Given the description of an element on the screen output the (x, y) to click on. 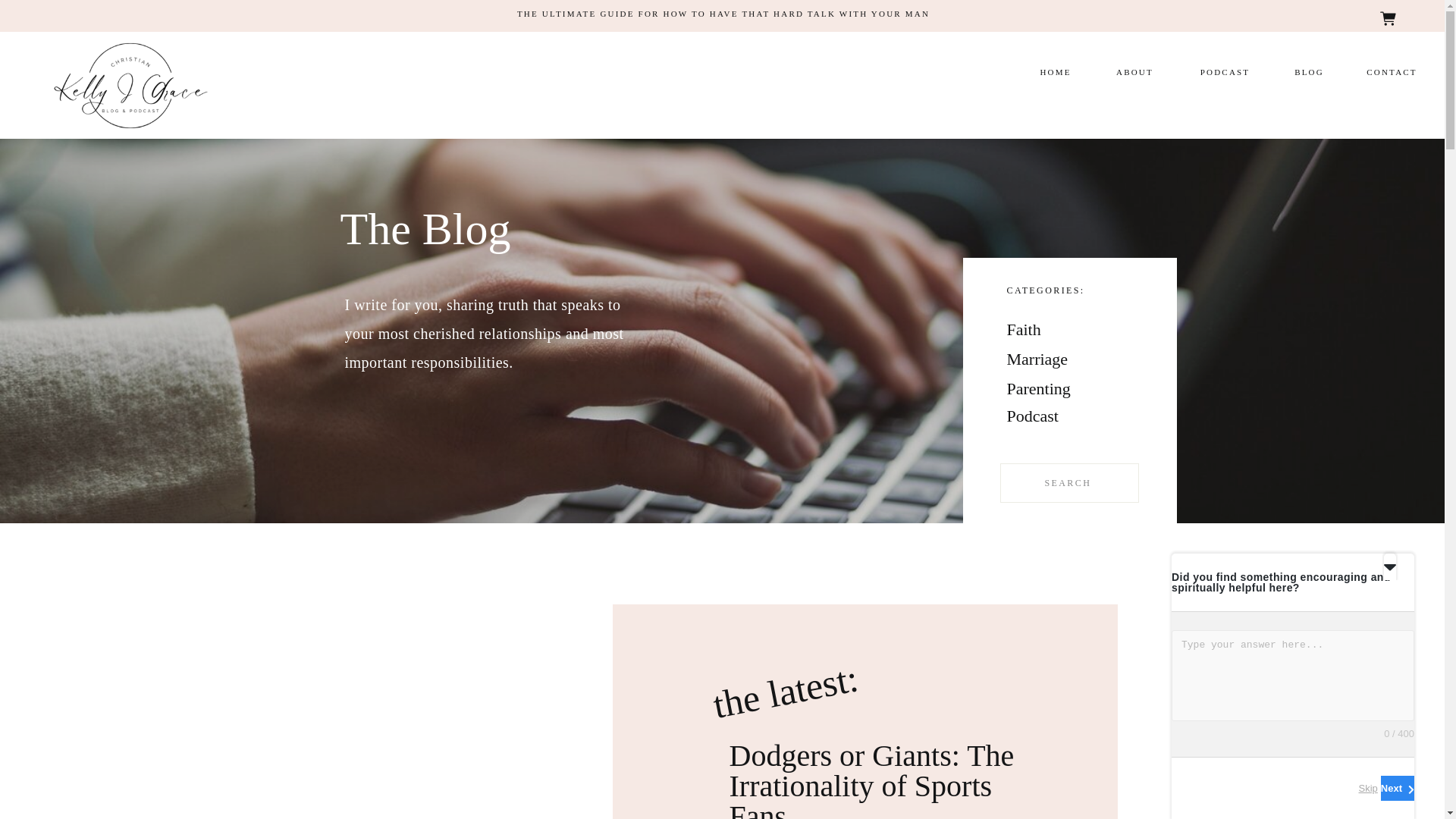
HOME (1055, 73)
Parenting (1056, 390)
BLOG (1309, 73)
Podcast (1069, 428)
ABOUT (1134, 73)
Marriage (1056, 360)
PODCAST (1224, 73)
Faith (1056, 332)
Dodgers or Giants: The Irrationality of Sports Fans (871, 778)
